Given the description of an element on the screen output the (x, y) to click on. 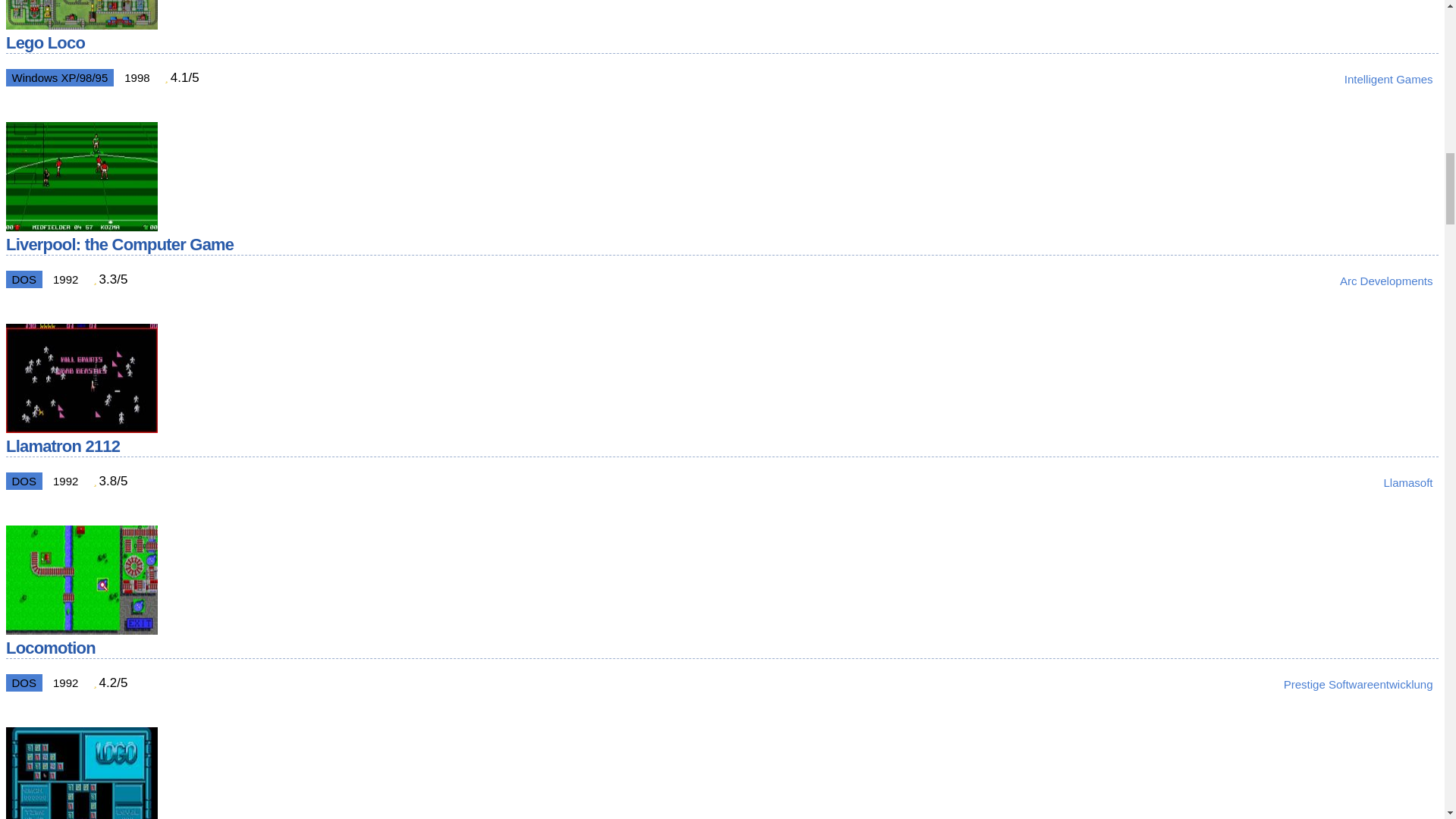
Liverpool: the Computer Game (81, 227)
Lego Loco (81, 25)
Llamatron 2112 (81, 428)
Locomotion (81, 630)
